Given the description of an element on the screen output the (x, y) to click on. 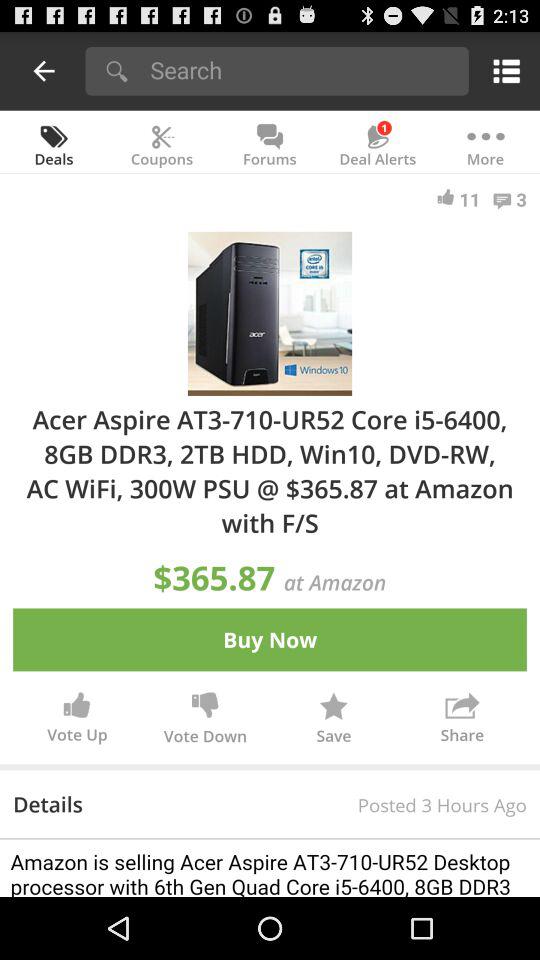
go back (44, 70)
